Given the description of an element on the screen output the (x, y) to click on. 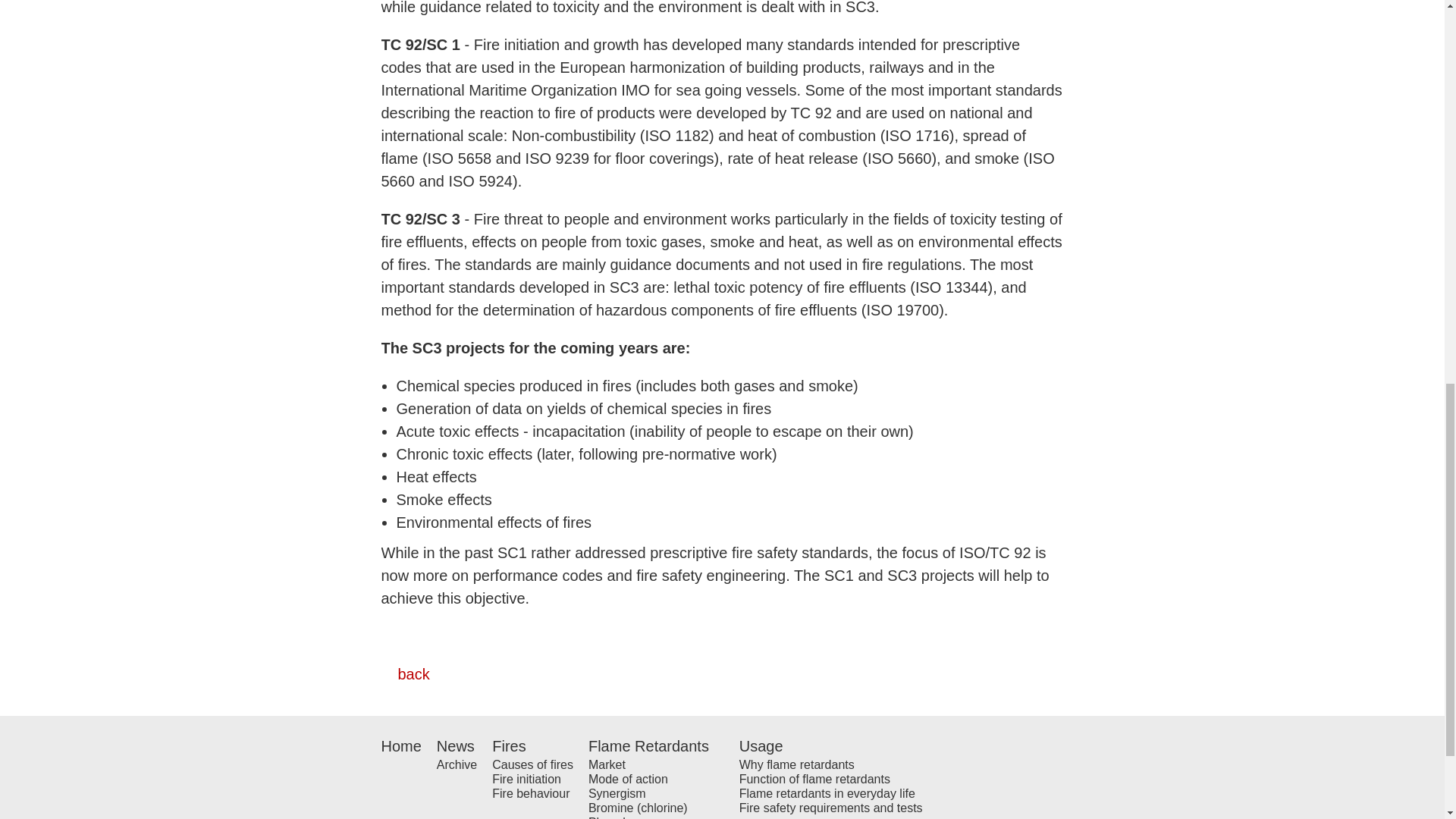
back (404, 673)
